Given the description of an element on the screen output the (x, y) to click on. 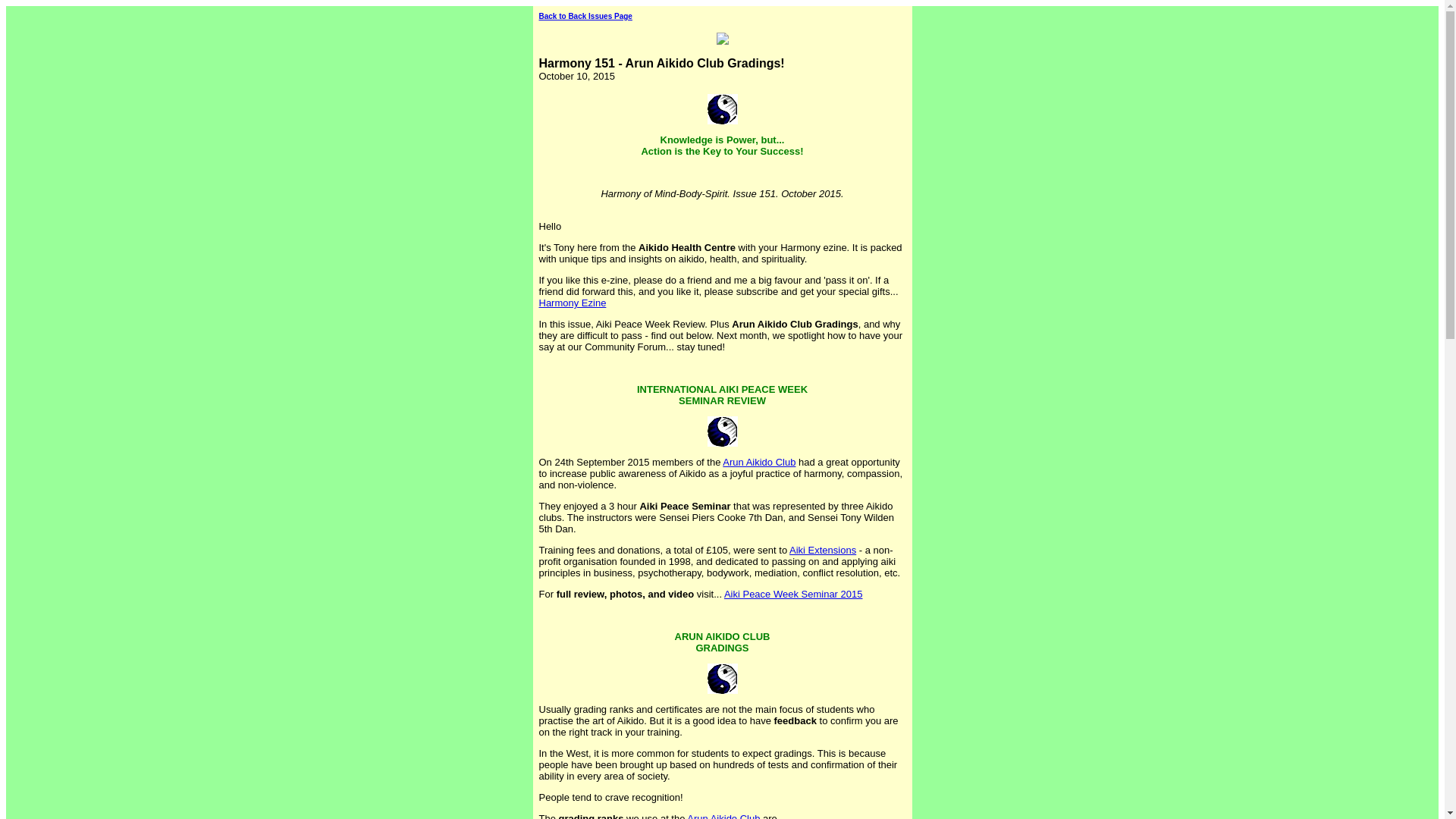
Arun Aikido Club (758, 461)
Back to Back Issues Page (584, 16)
Aiki Extensions (822, 550)
Aiki Peace Week Seminar 2015 (793, 593)
Arun Aikido Club (723, 816)
Harmony Ezine (571, 302)
